Given the description of an element on the screen output the (x, y) to click on. 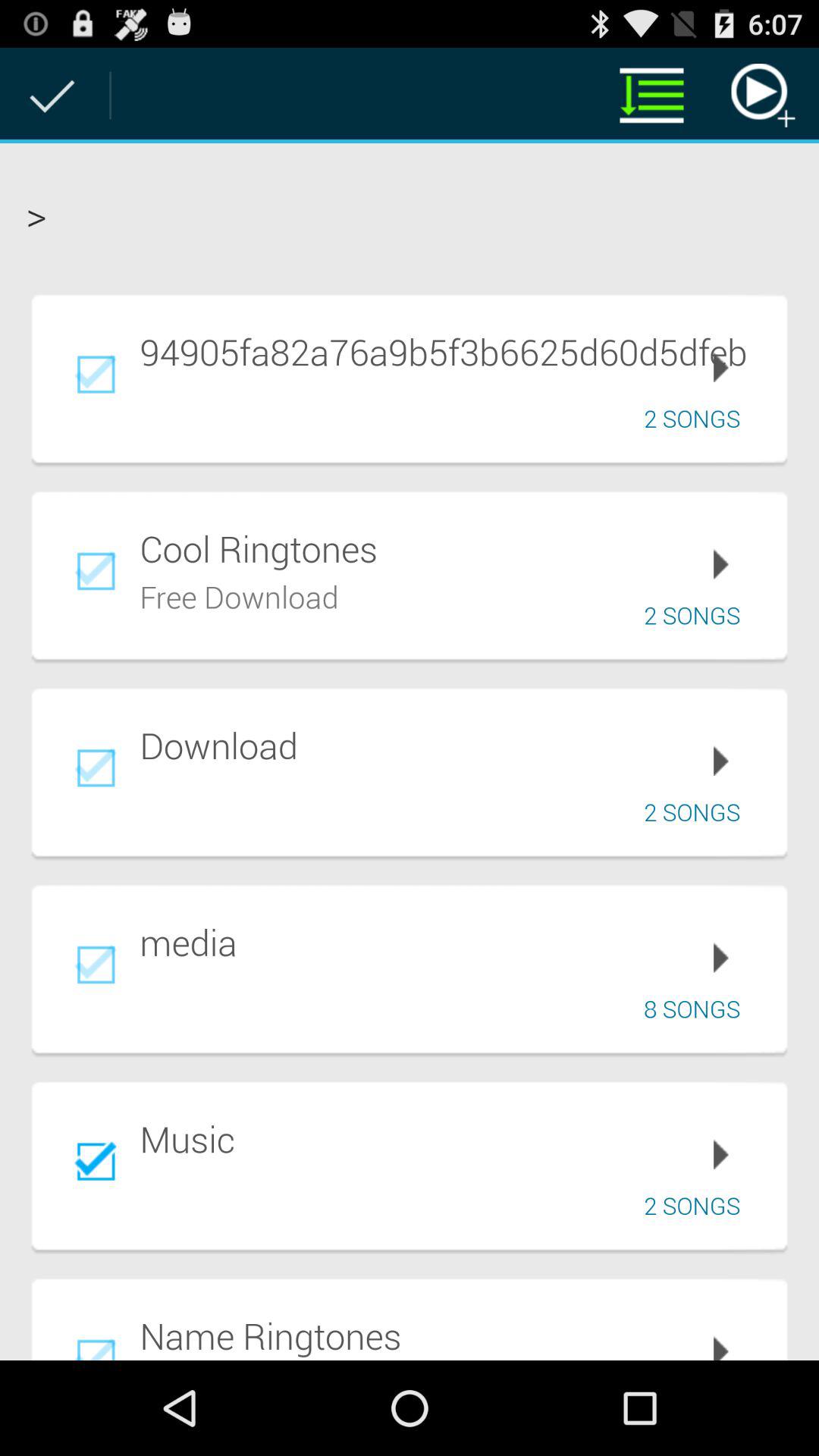
swipe until music item (452, 1138)
